Given the description of an element on the screen output the (x, y) to click on. 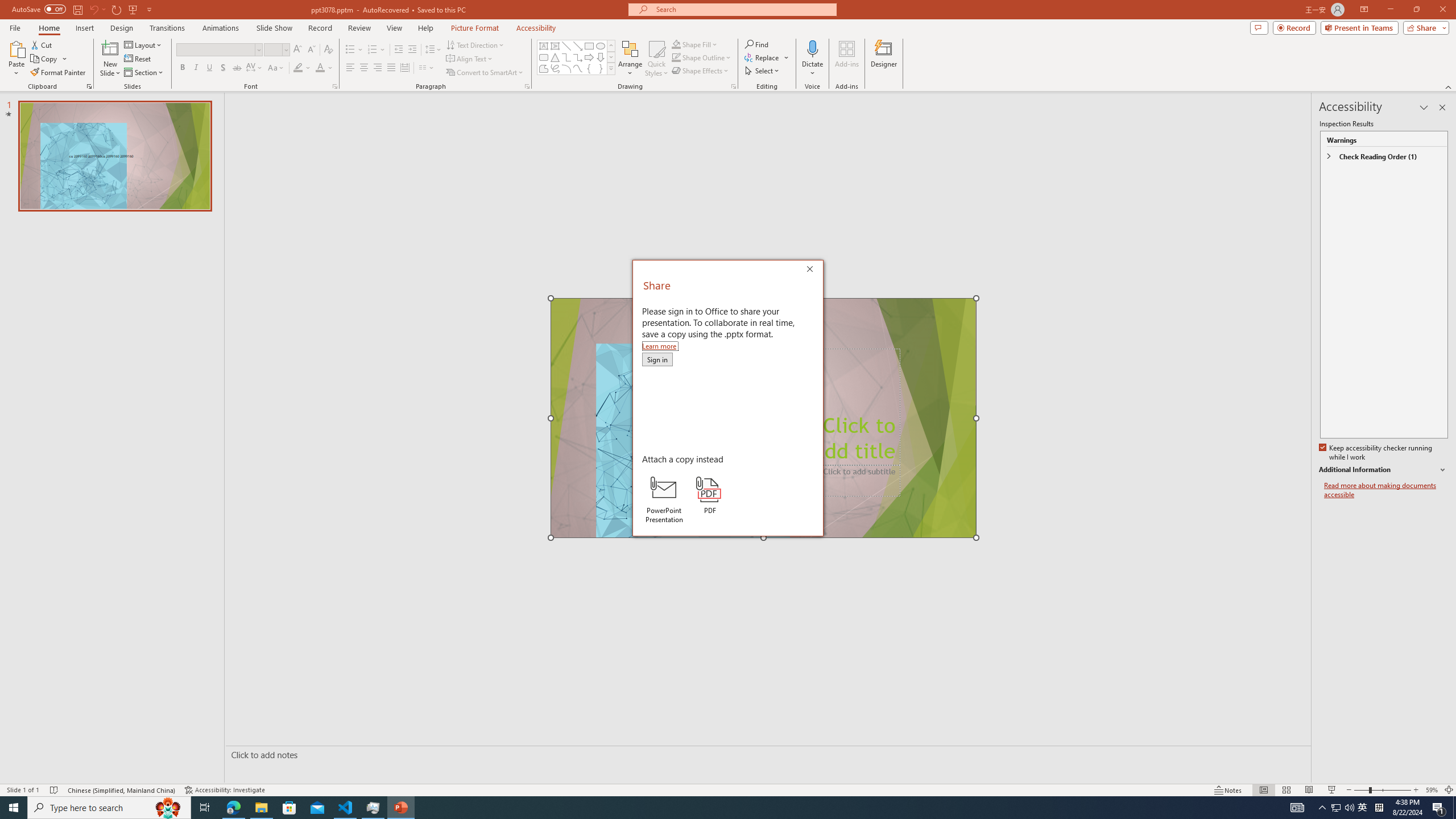
Format Painter (58, 72)
Microsoft Edge - 1 running window (233, 807)
Task Manager - 1 running window (373, 807)
Font... (334, 85)
Action Center, 1 new notification (1439, 807)
Line Arrow (577, 45)
Increase Font Size (297, 49)
